Given the description of an element on the screen output the (x, y) to click on. 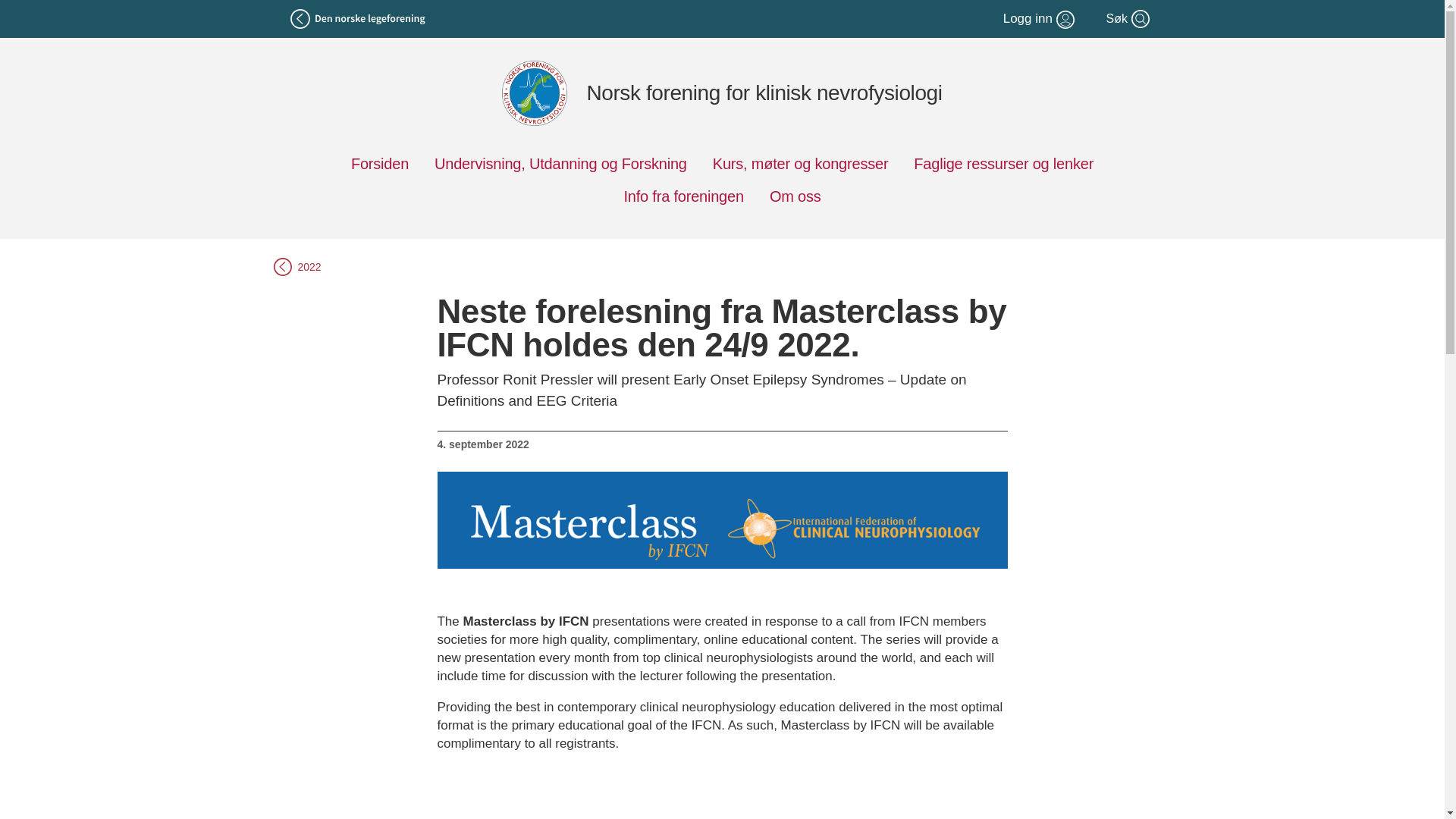
2022 (721, 266)
Undervisning, Utdanning og Forskning (560, 163)
Info fra foreningen (683, 196)
Faglige ressurser og lenker (1003, 163)
Logg inn (1040, 18)
Forsiden (379, 163)
Norsk forening for klinisk nevrofysiologi (721, 93)
Om oss (794, 196)
